Given the description of an element on the screen output the (x, y) to click on. 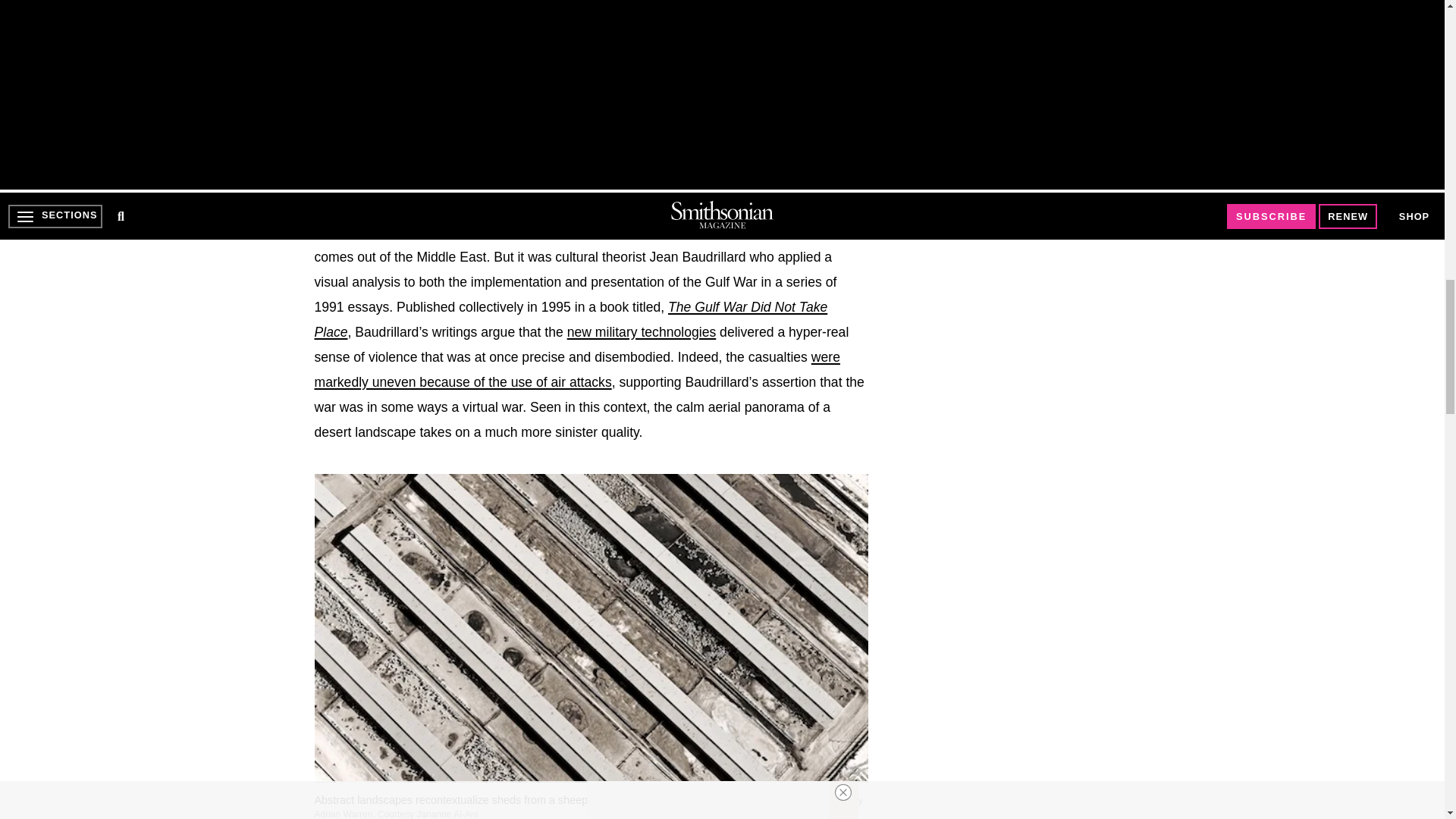
Google Books (570, 319)
PBS, Gulf War (641, 331)
NYTimes, 1992 Article (577, 369)
Google books (589, 219)
